Given the description of an element on the screen output the (x, y) to click on. 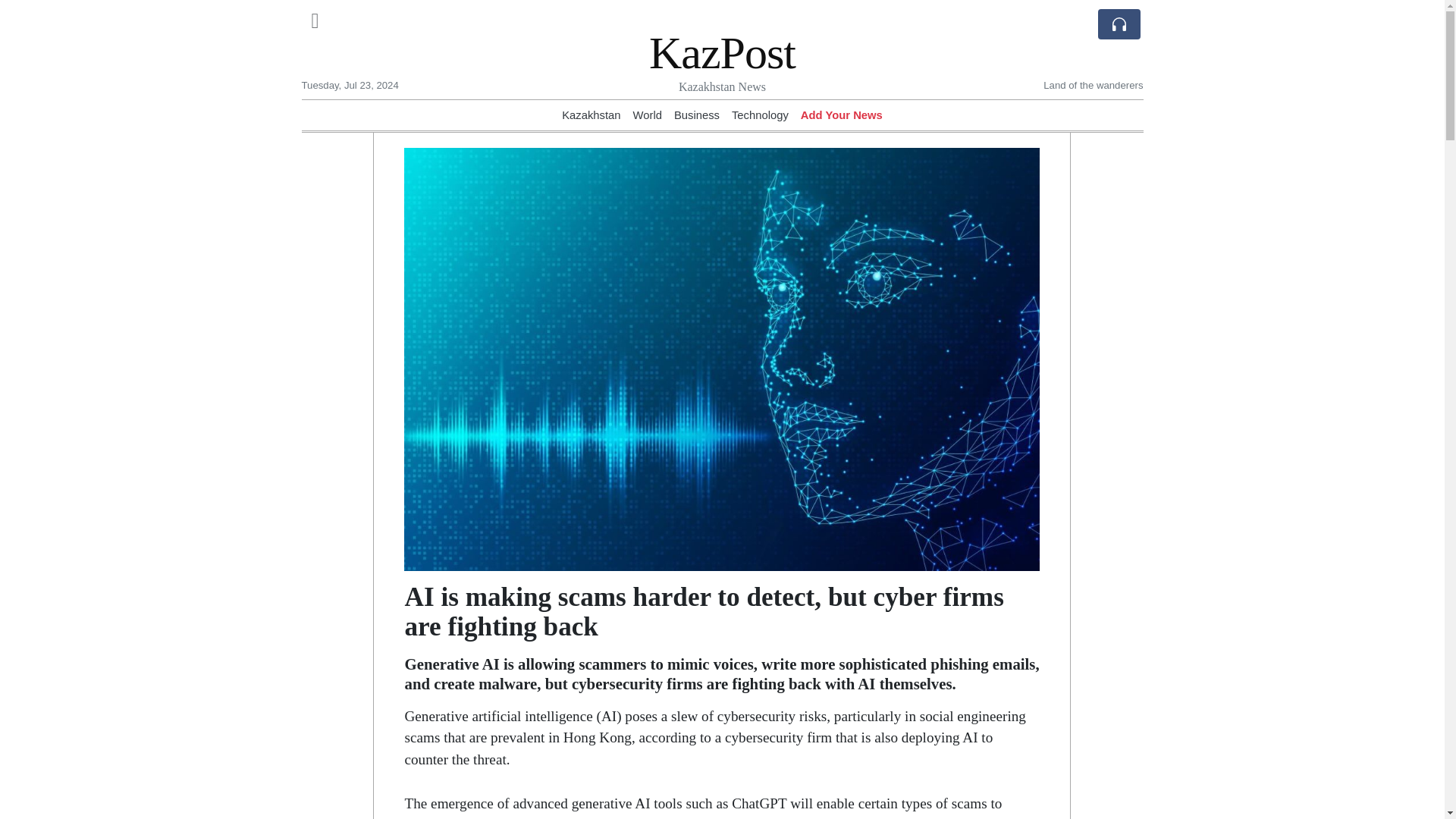
Business (696, 114)
Kazakhstan (591, 114)
KazPost (721, 52)
World (647, 114)
Technology (760, 114)
Add Your News (841, 114)
